Given the description of an element on the screen output the (x, y) to click on. 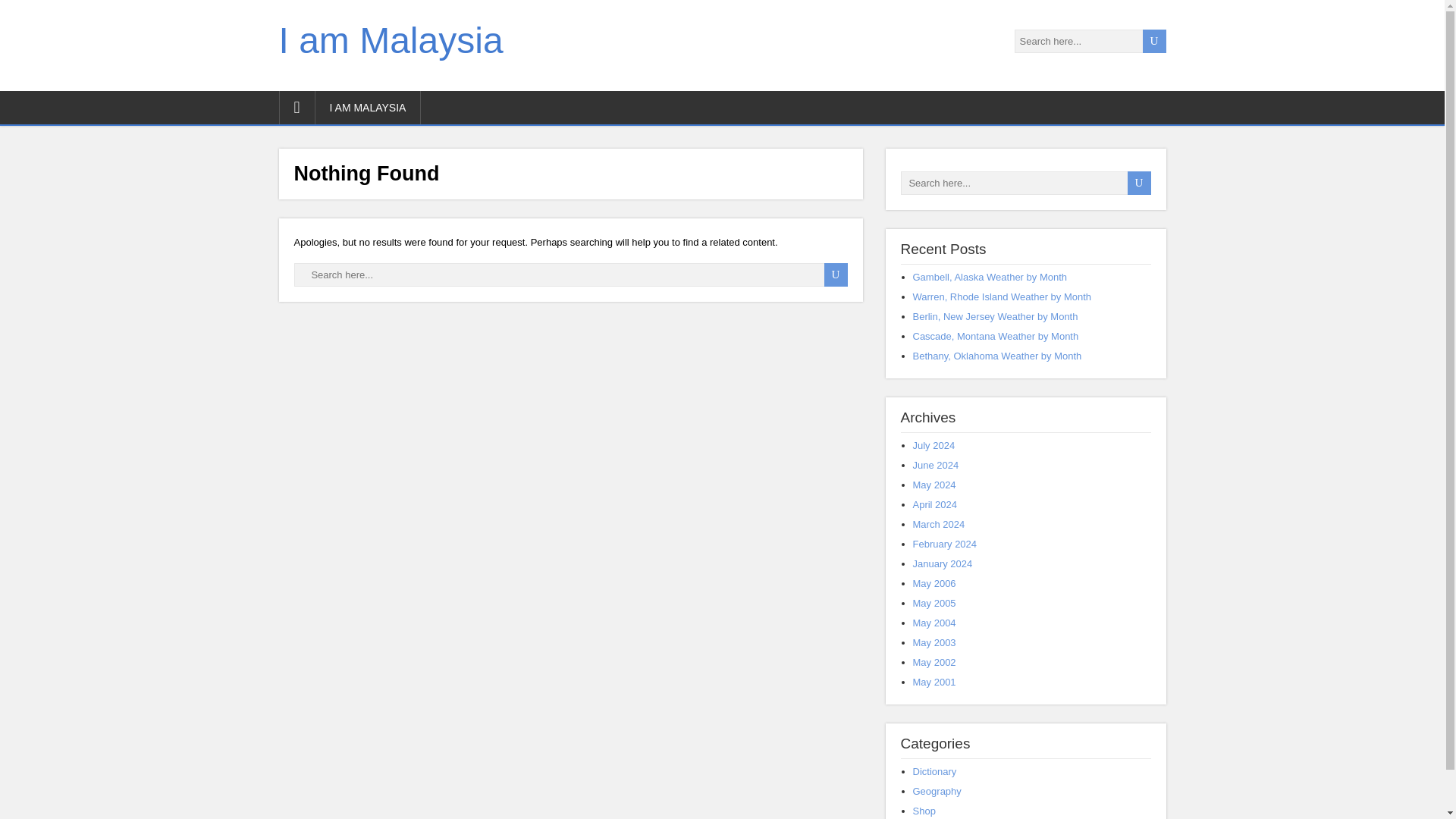
U (1138, 182)
May 2003 (934, 642)
U (1138, 182)
May 2006 (934, 583)
May 2024 (934, 484)
Berlin, New Jersey Weather by Month (995, 316)
Shop (924, 810)
U (1138, 182)
May 2002 (934, 662)
July 2024 (933, 445)
